Given the description of an element on the screen output the (x, y) to click on. 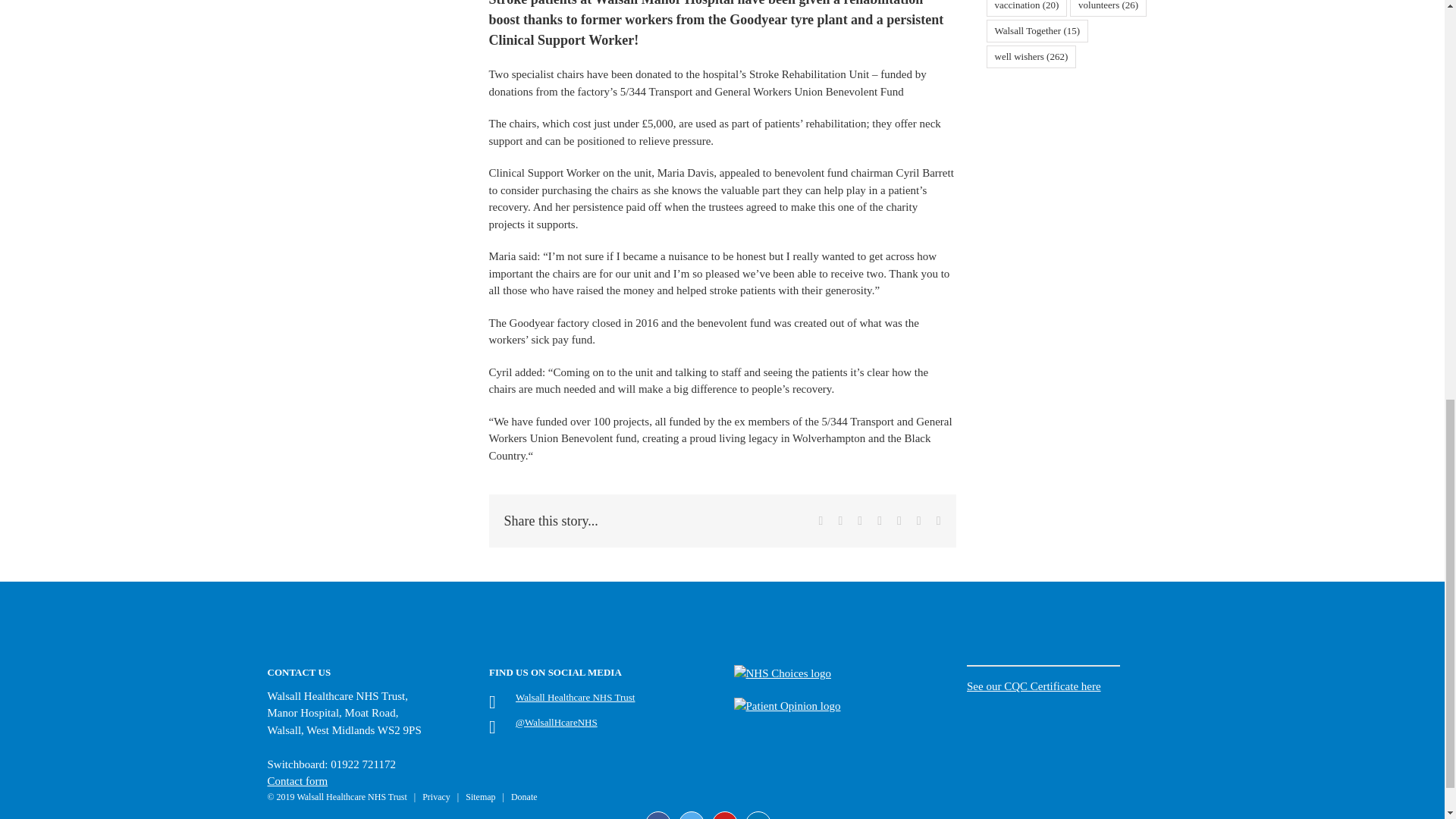
LinkedIn (757, 815)
Facebook (657, 815)
Twitter (690, 815)
YouTube (723, 815)
